Given the description of an element on the screen output the (x, y) to click on. 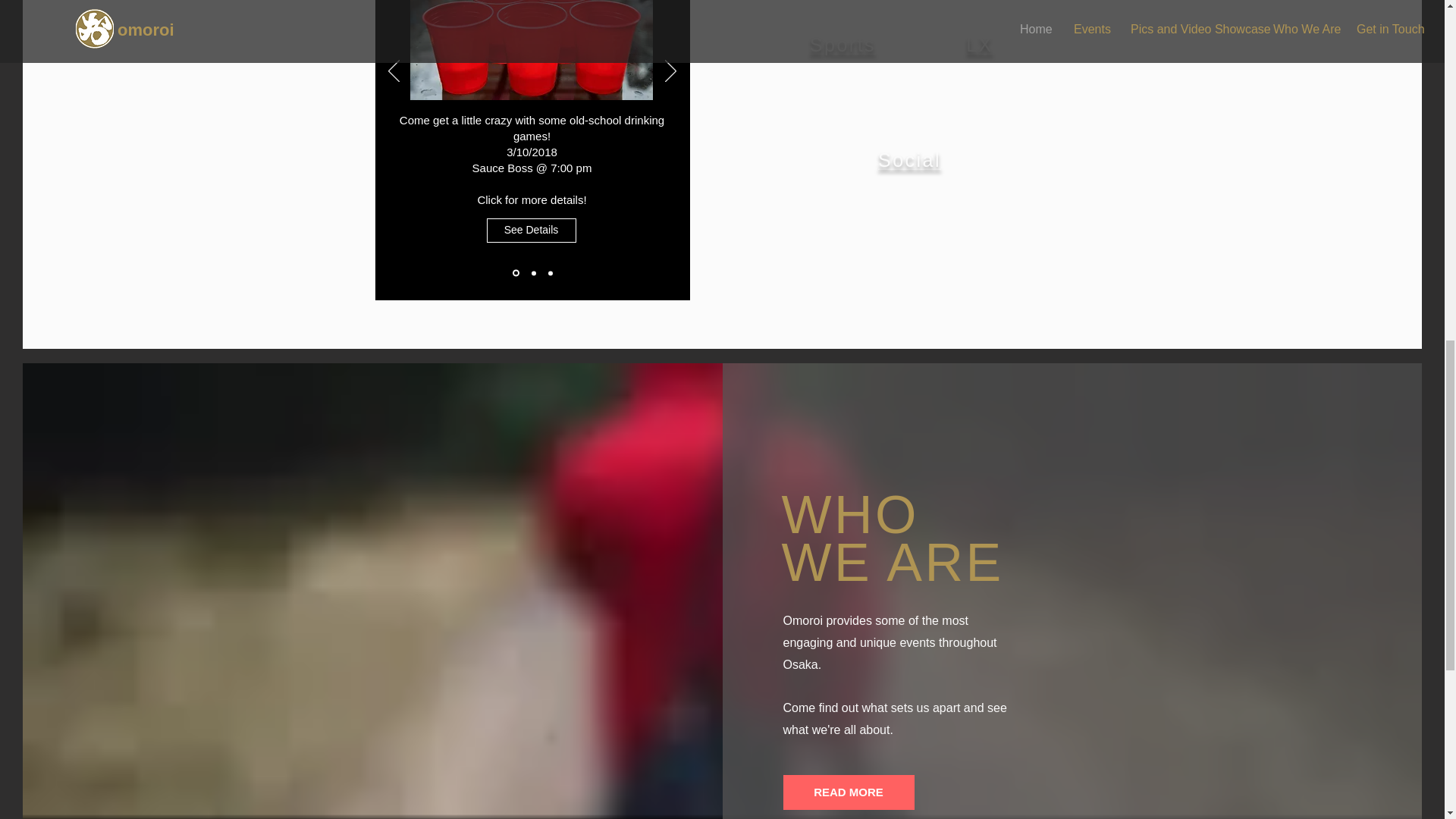
Sports (842, 44)
READ MORE (848, 791)
Social (908, 159)
See Details (531, 230)
LX (979, 44)
